Given the description of an element on the screen output the (x, y) to click on. 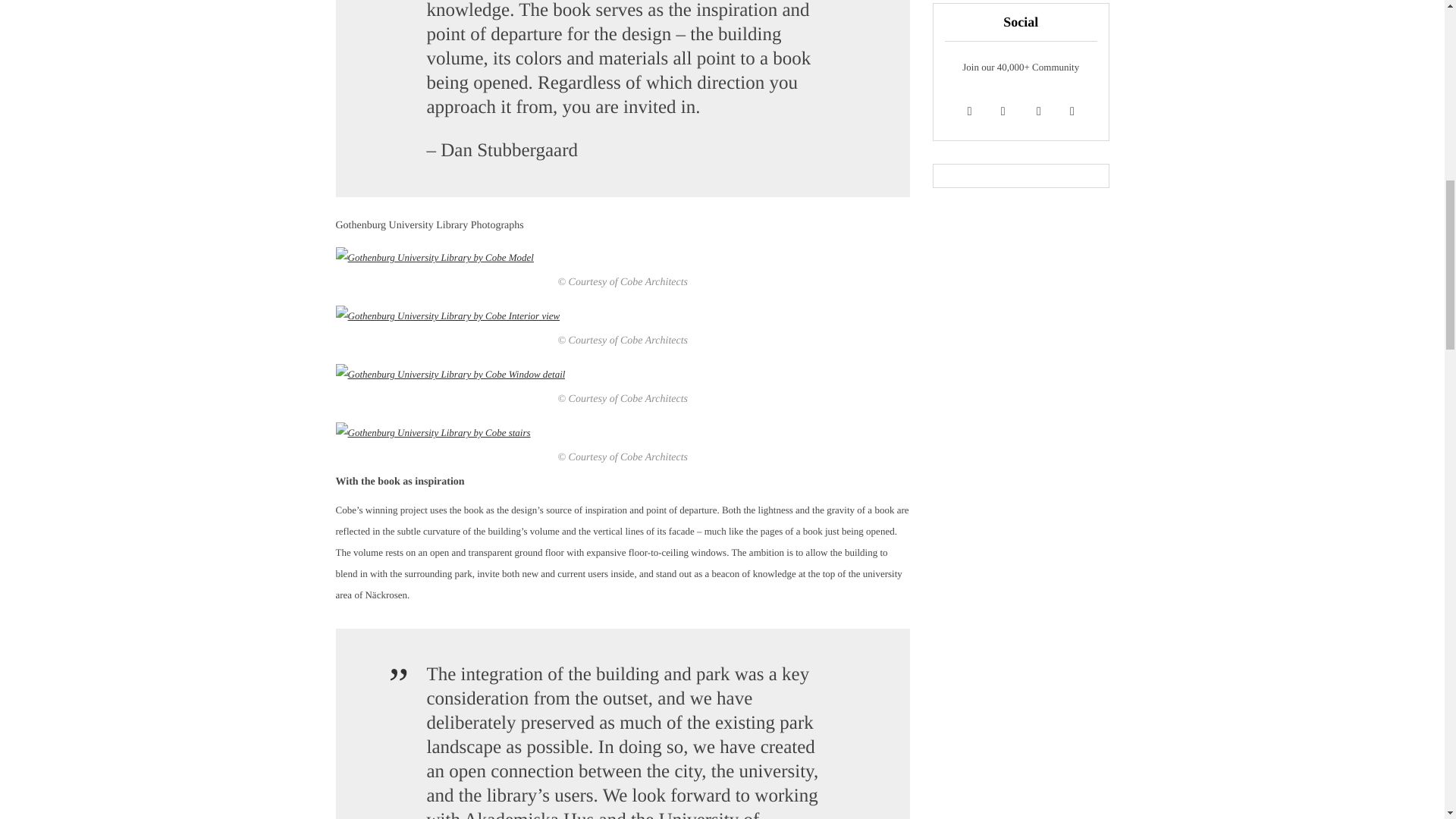
Gothenburg University Library by Cobe Model (433, 257)
Gothenburg University Library by Cobe stairs (431, 432)
Gothenburg University Library by Cobe Interior view (446, 315)
Gothenburg University Library by Cobe Window detail (449, 373)
